Given the description of an element on the screen output the (x, y) to click on. 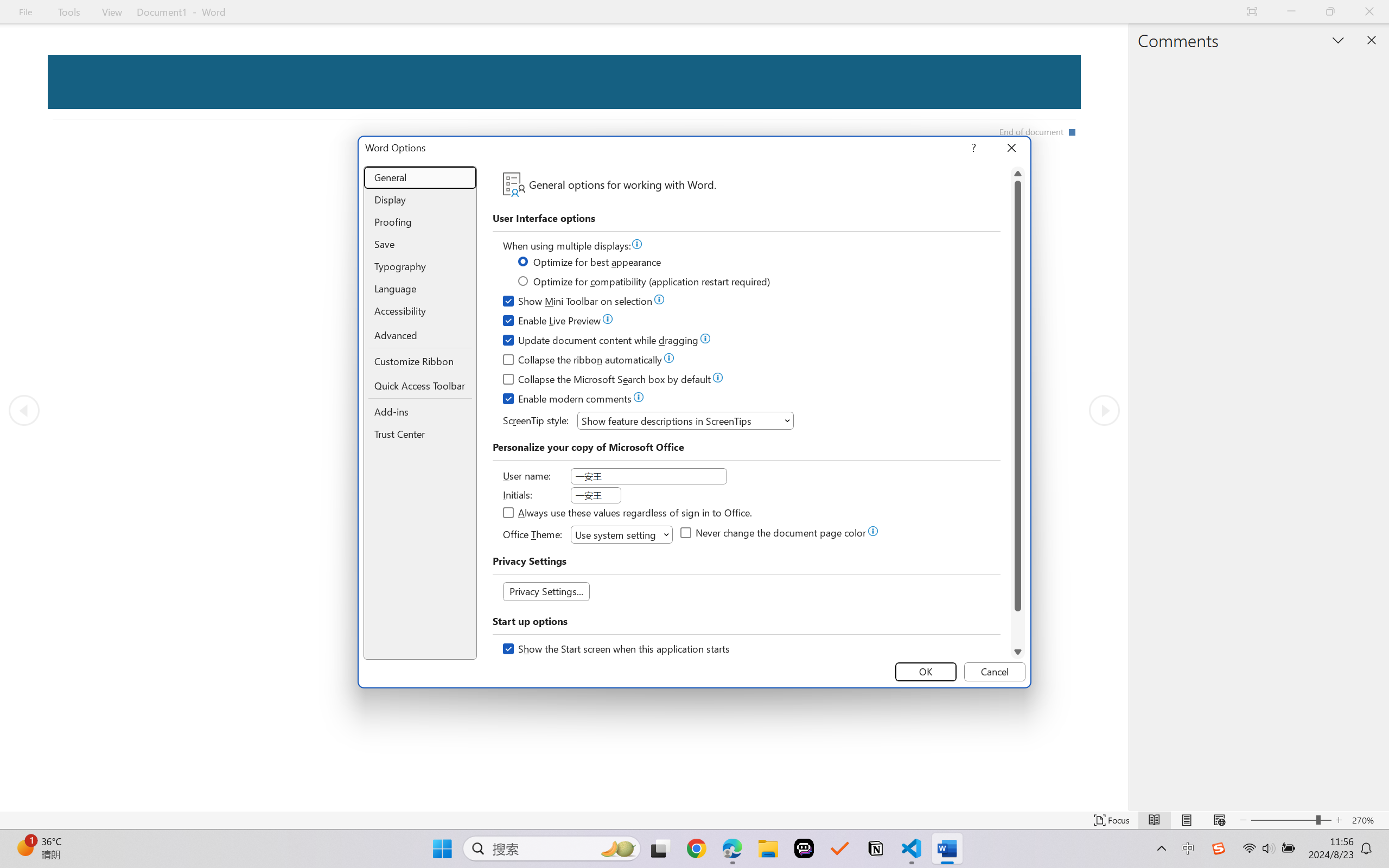
Optimize for best appearance (590, 263)
Trust Center (419, 434)
Accessibility (419, 311)
Increase Text Size (1338, 819)
Advanced (419, 336)
Never change the document page color (774, 534)
Line up (1018, 173)
Line down (1018, 651)
